Given the description of an element on the screen output the (x, y) to click on. 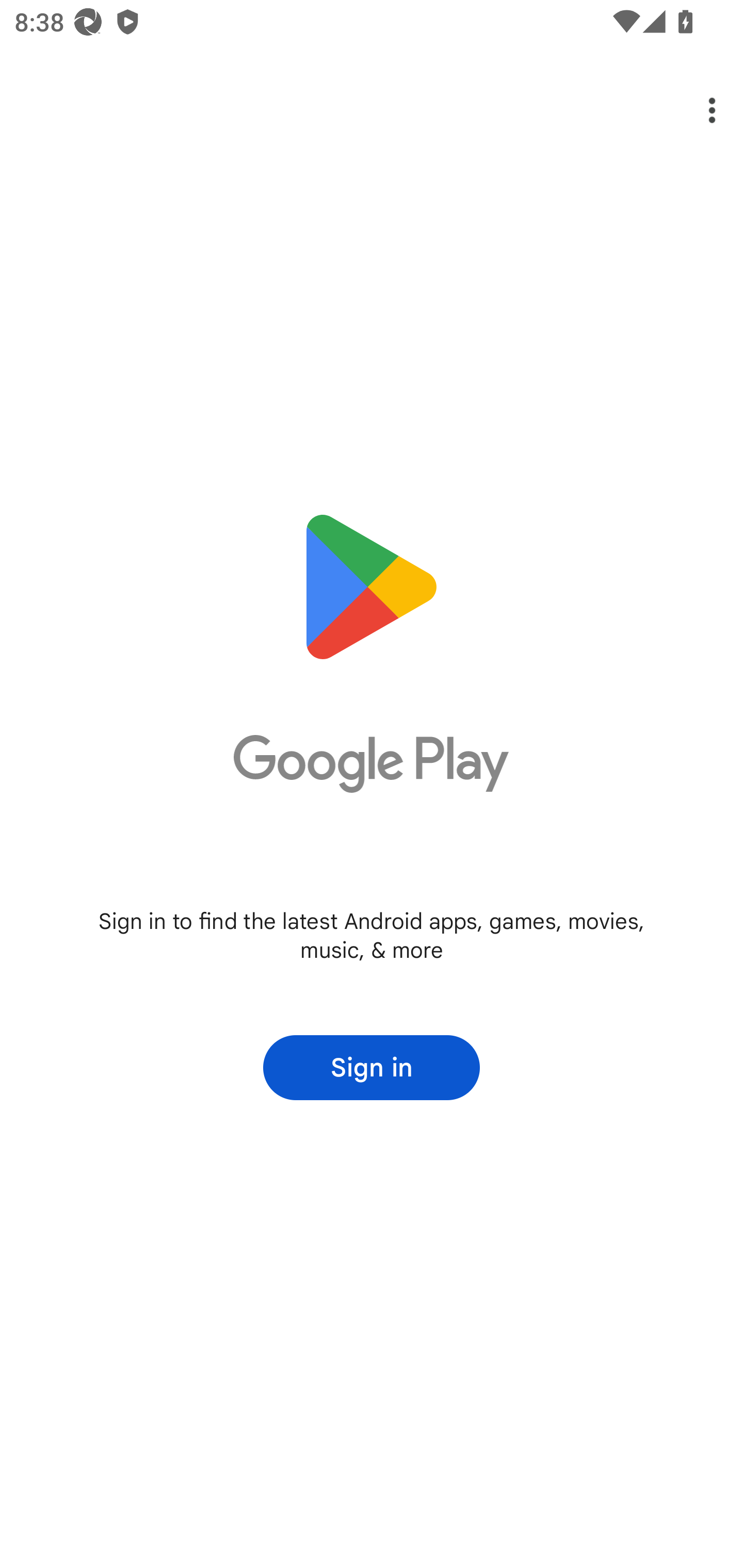
Options (697, 110)
Sign in (371, 1067)
